Given the description of an element on the screen output the (x, y) to click on. 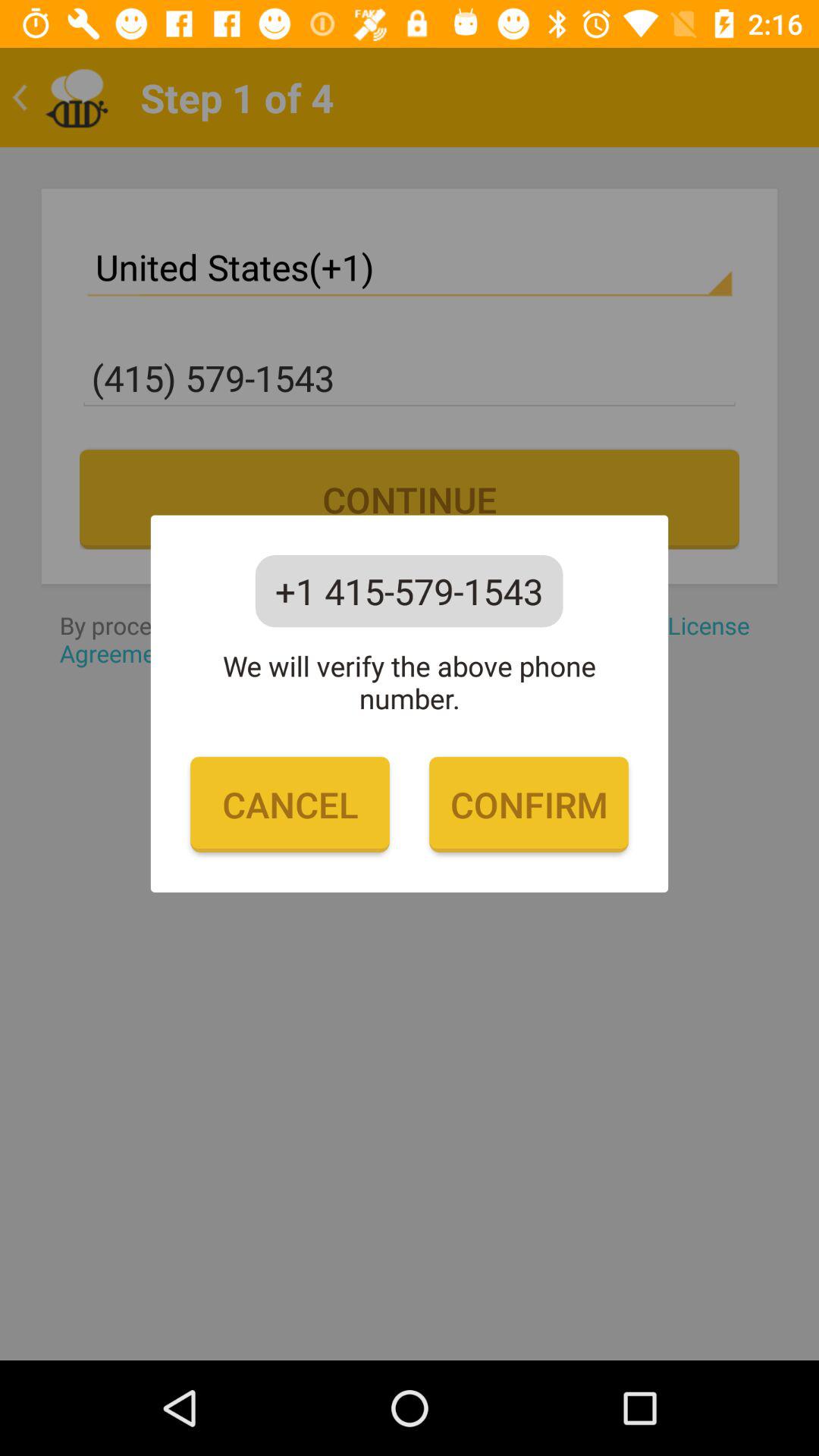
launch confirm icon (528, 804)
